Given the description of an element on the screen output the (x, y) to click on. 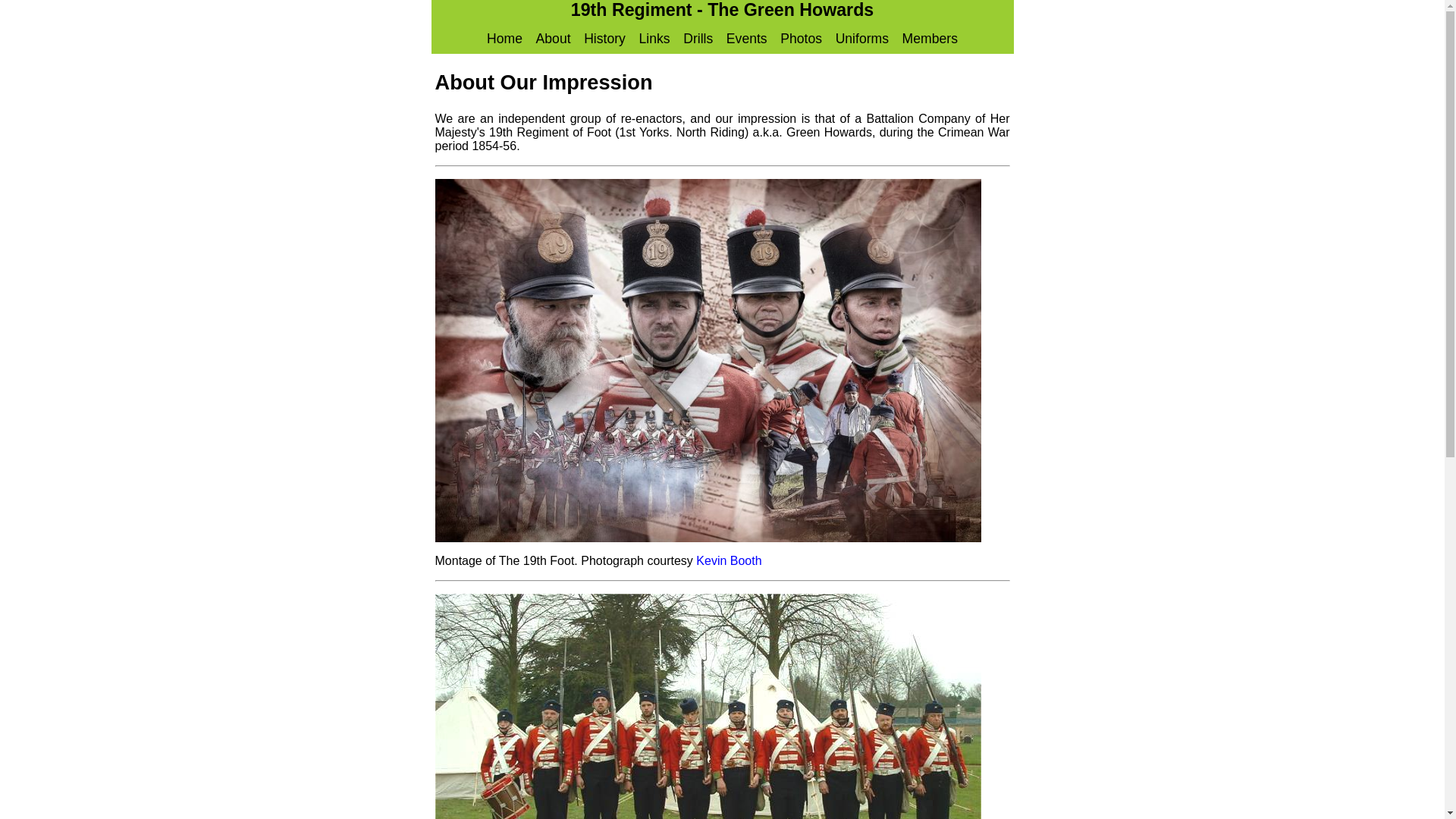
About (553, 39)
19th Foot Home Page (504, 39)
Home (504, 39)
